Given the description of an element on the screen output the (x, y) to click on. 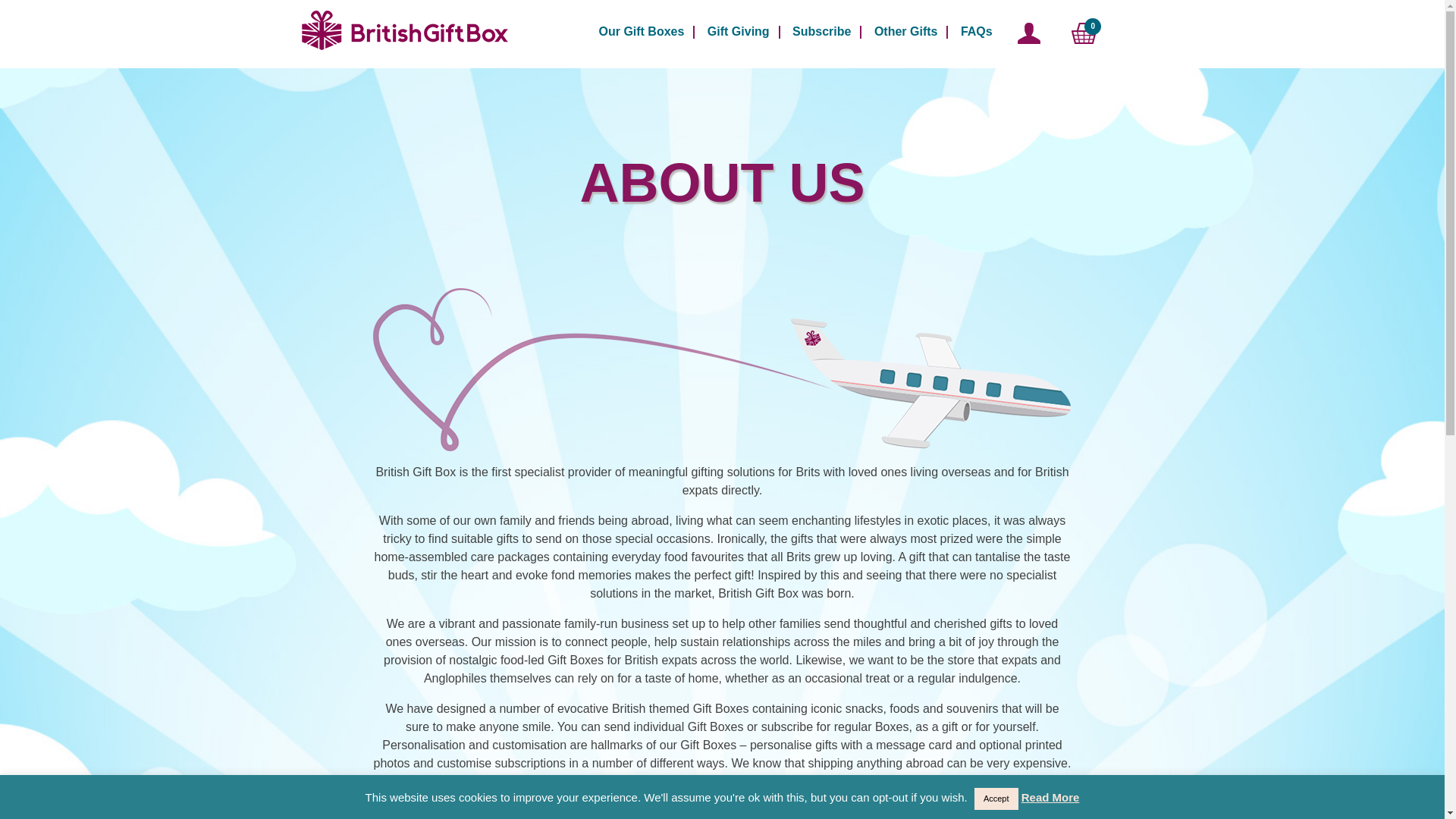
0 (1083, 33)
Subscribe (821, 32)
Gift Giving (738, 32)
Other Gifts (906, 32)
FAQs (976, 32)
Our Gift Boxes (641, 32)
